Given the description of an element on the screen output the (x, y) to click on. 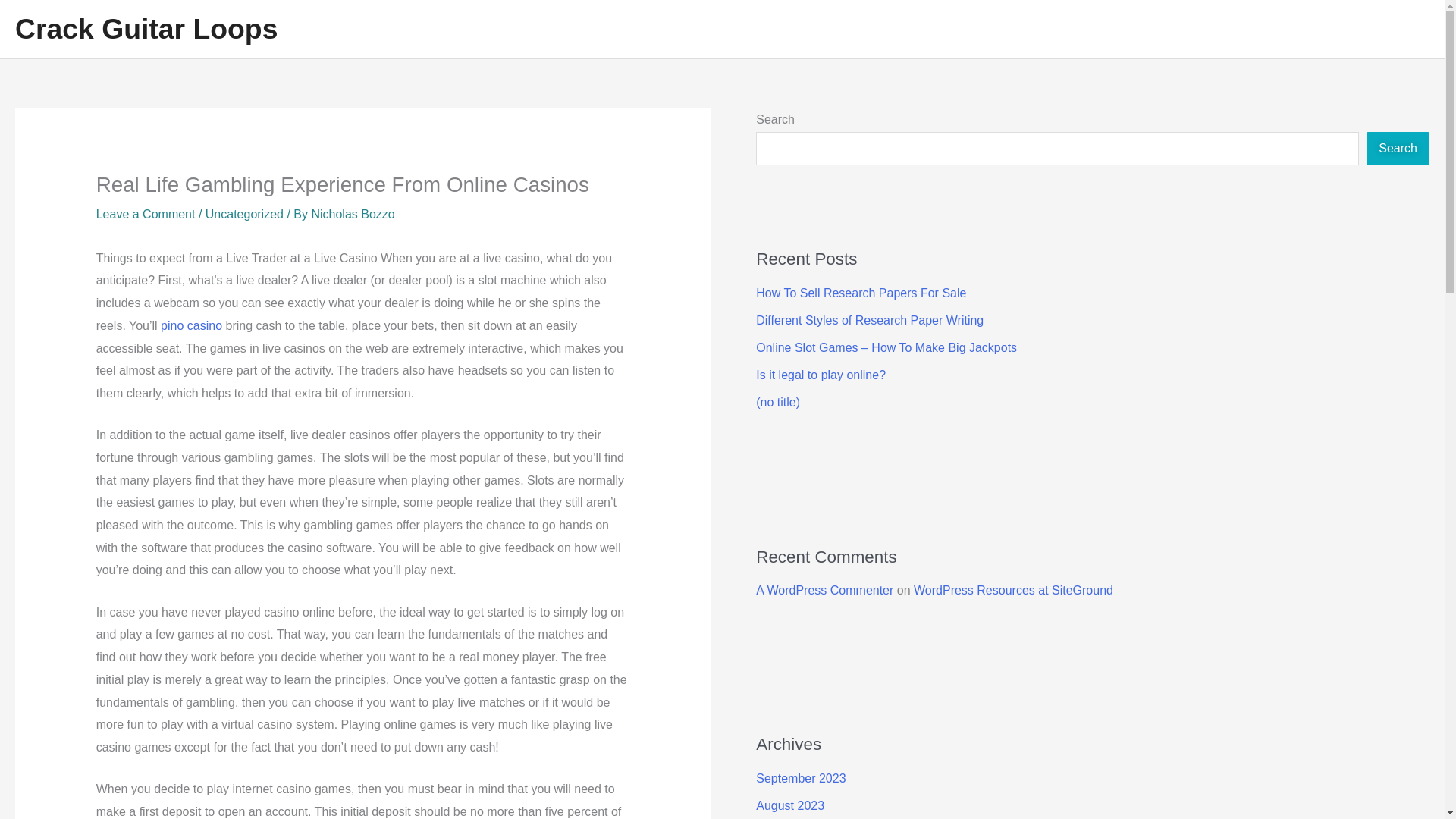
How To Sell Research Papers For Sale (860, 292)
Nicholas Bozzo (352, 214)
August 2023 (789, 805)
Uncategorized (244, 214)
A WordPress Commenter (824, 590)
September 2023 (800, 778)
WordPress Resources at SiteGround (1013, 590)
Is it legal to play online? (820, 374)
Search (1398, 148)
Leave a Comment (145, 214)
Crack Guitar Loops (146, 29)
Different Styles of Research Paper Writing (869, 319)
View all posts by Nicholas Bozzo (352, 214)
pino casino (191, 325)
